Given the description of an element on the screen output the (x, y) to click on. 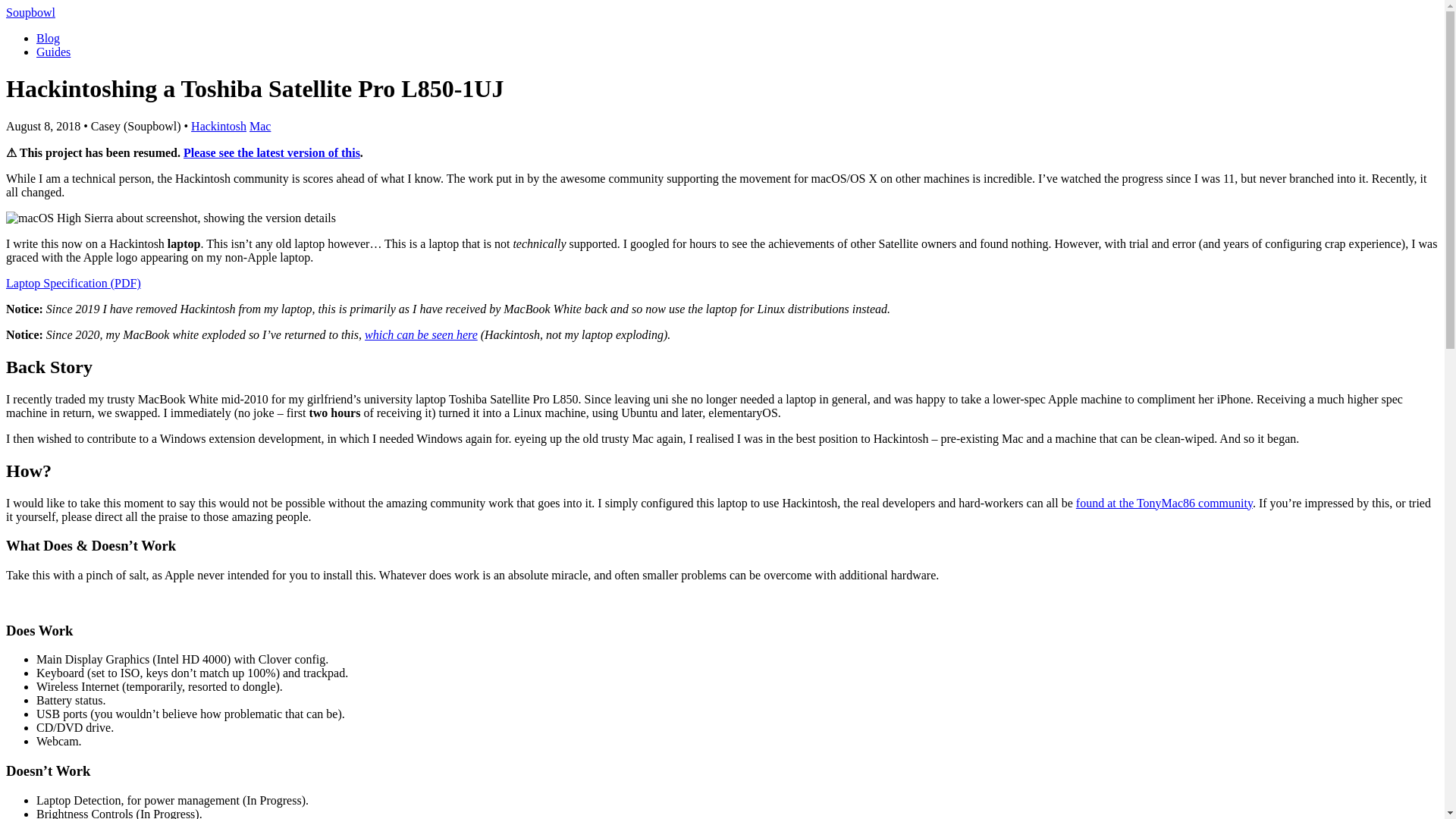
Soupbowl (30, 11)
Mac (259, 125)
Guides (52, 51)
found at the TonyMac86 community (1163, 502)
Blog (47, 38)
Please see the latest version of this (271, 152)
Hackintosh (218, 125)
which can be seen here (421, 334)
